Given the description of an element on the screen output the (x, y) to click on. 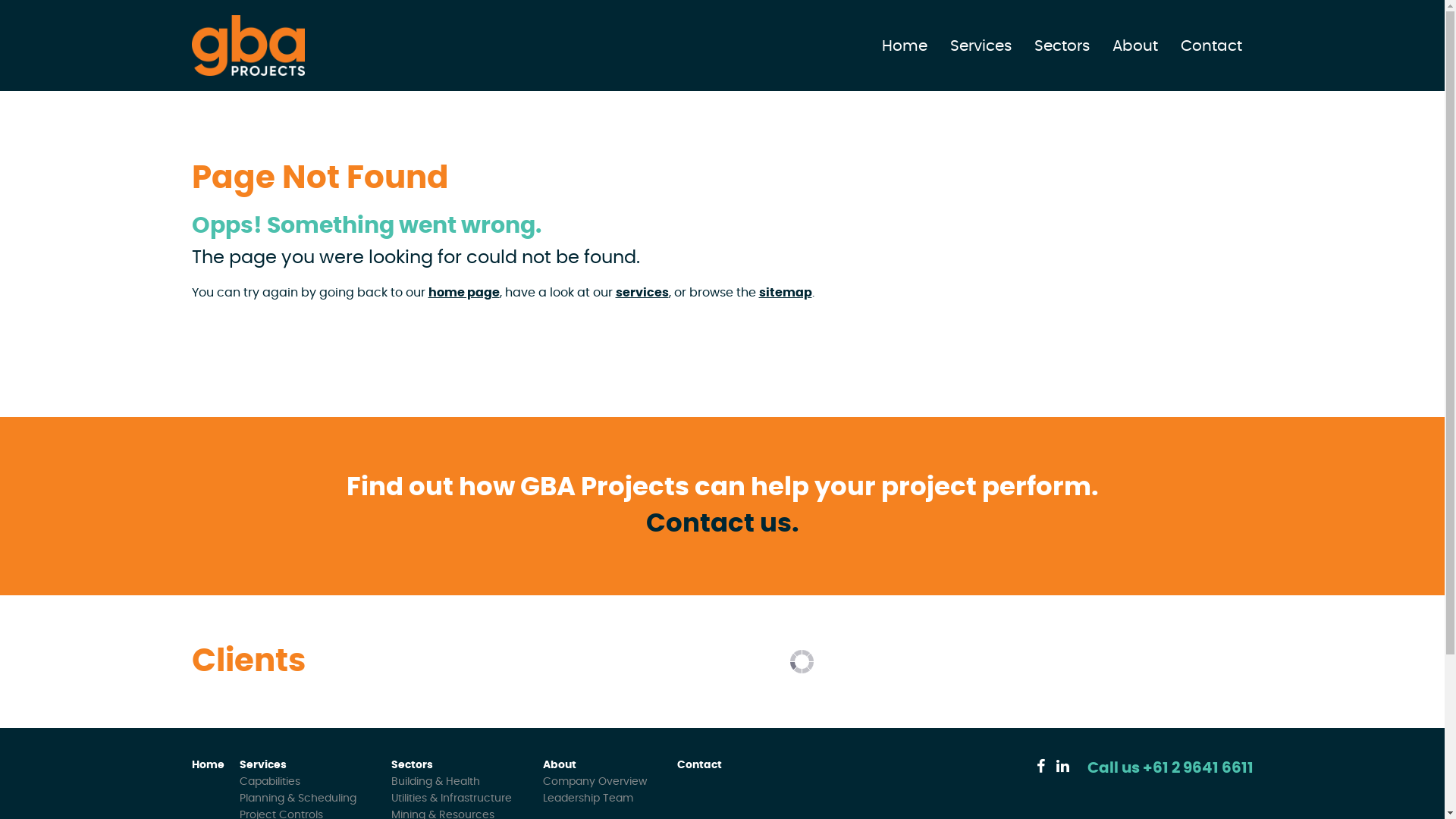
About Element type: text (1134, 45)
Utilities & Infrastructure Element type: text (451, 798)
Capabilities Element type: text (269, 781)
Company Overview Element type: text (594, 781)
Home Element type: text (903, 45)
Sectors Element type: text (1061, 45)
home page Element type: text (462, 292)
Services Element type: text (979, 45)
Building & Health Element type: text (435, 781)
Contact us. Element type: text (722, 523)
sitemap Element type: text (784, 292)
Services Element type: text (262, 764)
Leadership Team Element type: text (587, 798)
Contact Element type: text (1210, 45)
About Element type: text (559, 764)
Contact Element type: text (698, 764)
Call us +61 2 9641 6611 Element type: text (1170, 767)
Sectors Element type: text (412, 764)
Planning & Scheduling Element type: text (297, 798)
Home Element type: text (207, 764)
services Element type: text (641, 292)
